Given the description of an element on the screen output the (x, y) to click on. 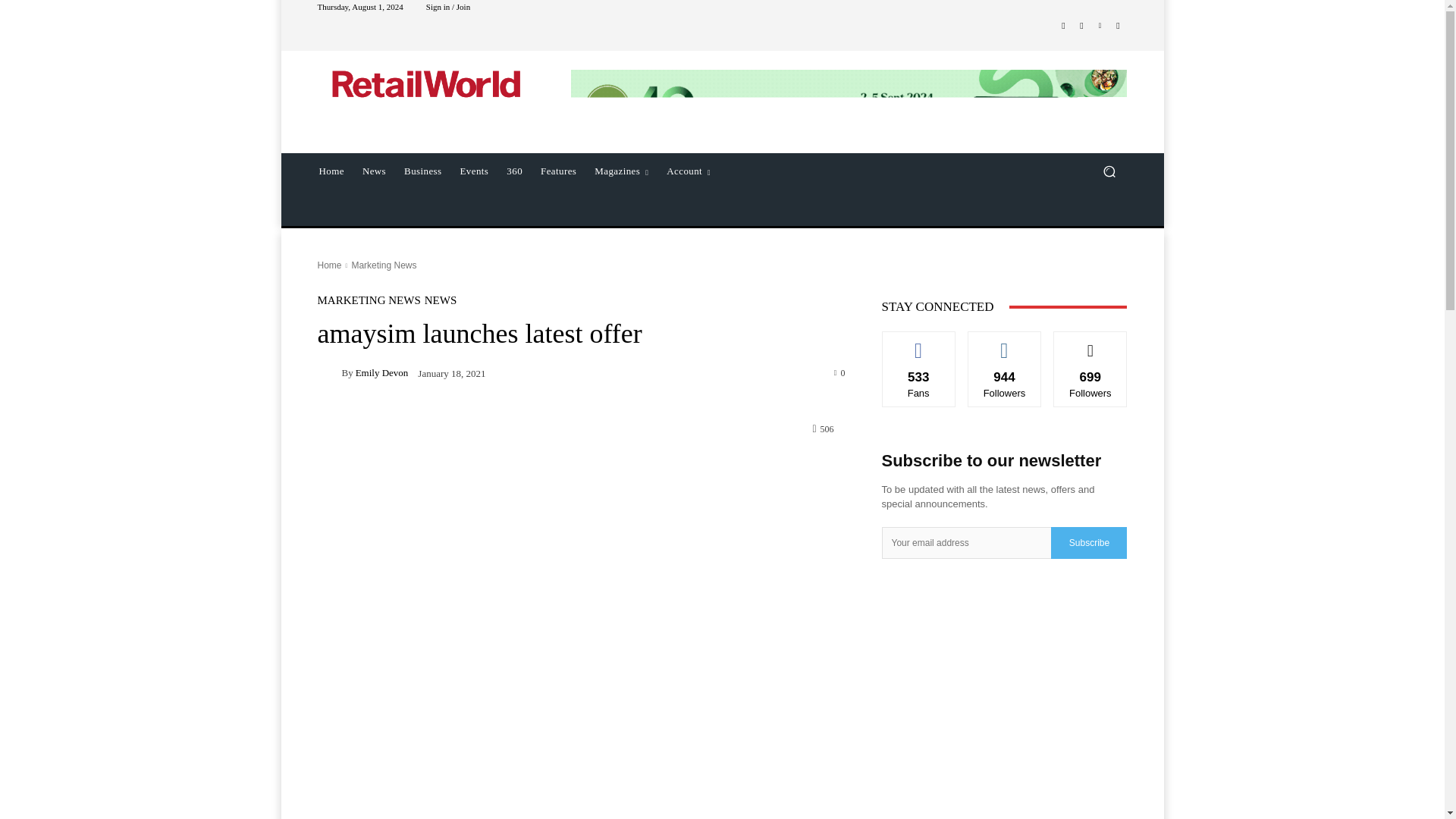
Business (421, 171)
Emily Devon (328, 373)
Account (688, 171)
Features (558, 171)
Instagram (1080, 25)
Linkedin (1099, 25)
View all posts in Marketing News (383, 265)
Twitter (1117, 25)
Home (328, 265)
Home (330, 171)
Magazines (621, 171)
Events (474, 171)
360 (514, 171)
Facebook (1062, 25)
News (373, 171)
